Given the description of an element on the screen output the (x, y) to click on. 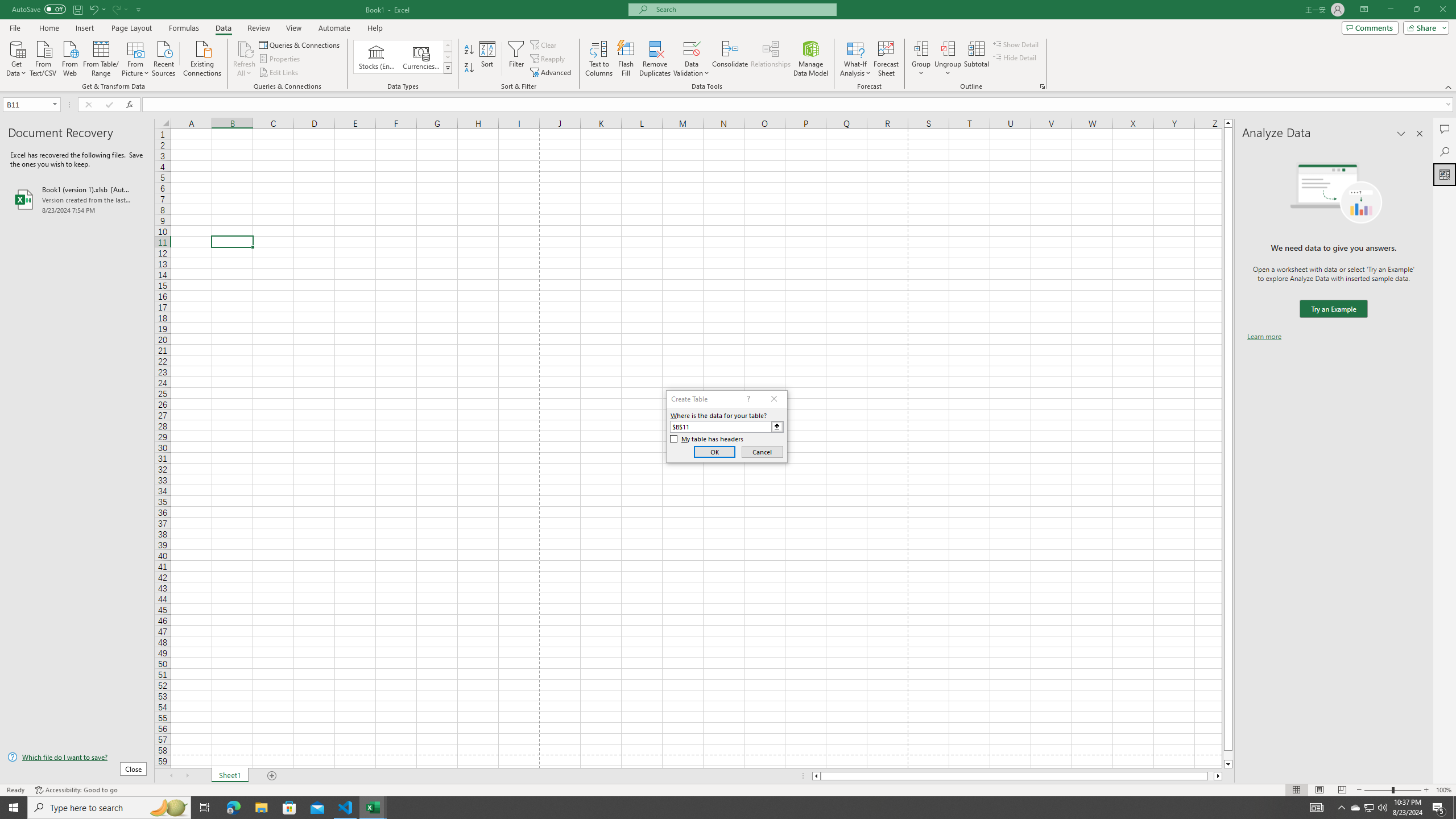
Show Detail (1016, 44)
Formula Bar (799, 104)
Queries & Connections (300, 44)
Class: NetUIImage (447, 68)
From Text/CSV (43, 57)
Remove Duplicates (654, 58)
